Given the description of an element on the screen output the (x, y) to click on. 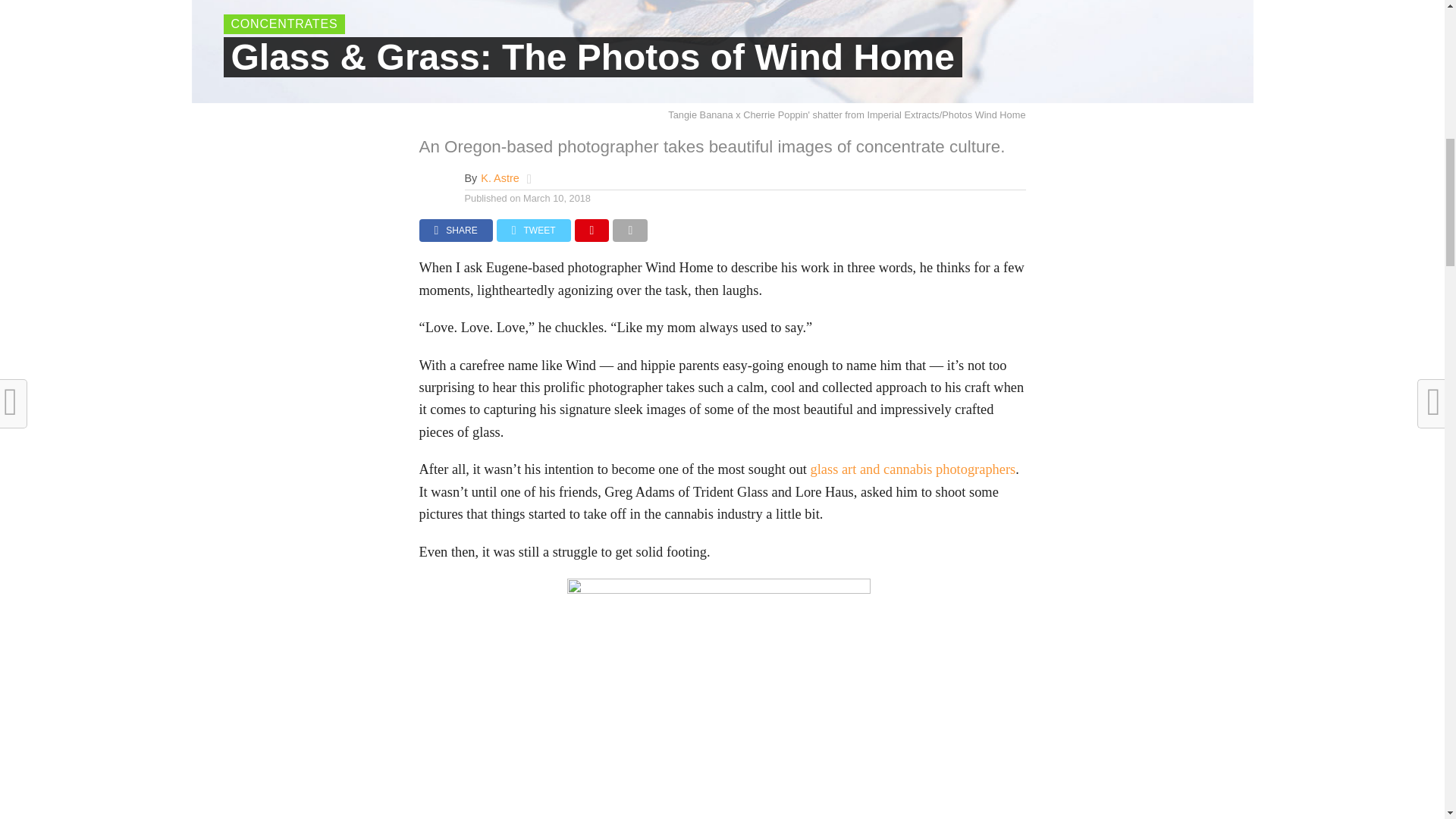
Posts by K. Astre (499, 177)
